Given the description of an element on the screen output the (x, y) to click on. 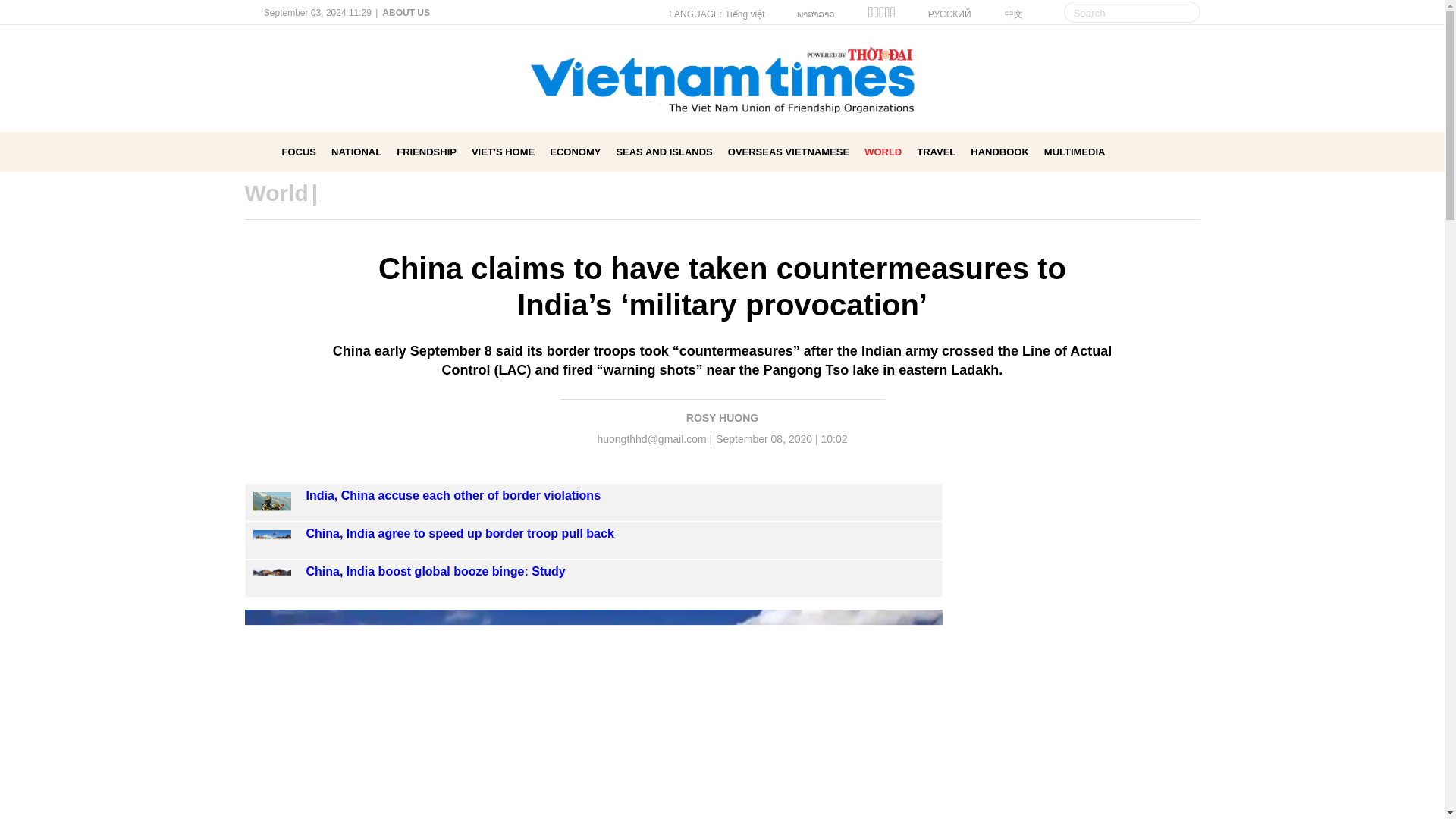
China, India agree to speed up border troop pull back (272, 540)
ECONOMY (574, 152)
India, China accuse each other of border violations (272, 502)
OVERSEAS VIETNAMESE (788, 152)
World (275, 192)
China, India boost global booze binge: Study (272, 578)
India, China accuse each other of border violations (272, 503)
VIET'S HOME (502, 152)
China, India boost global booze binge: Study (435, 571)
China, India agree to speed up border troop pull back (459, 533)
